Given the description of an element on the screen output the (x, y) to click on. 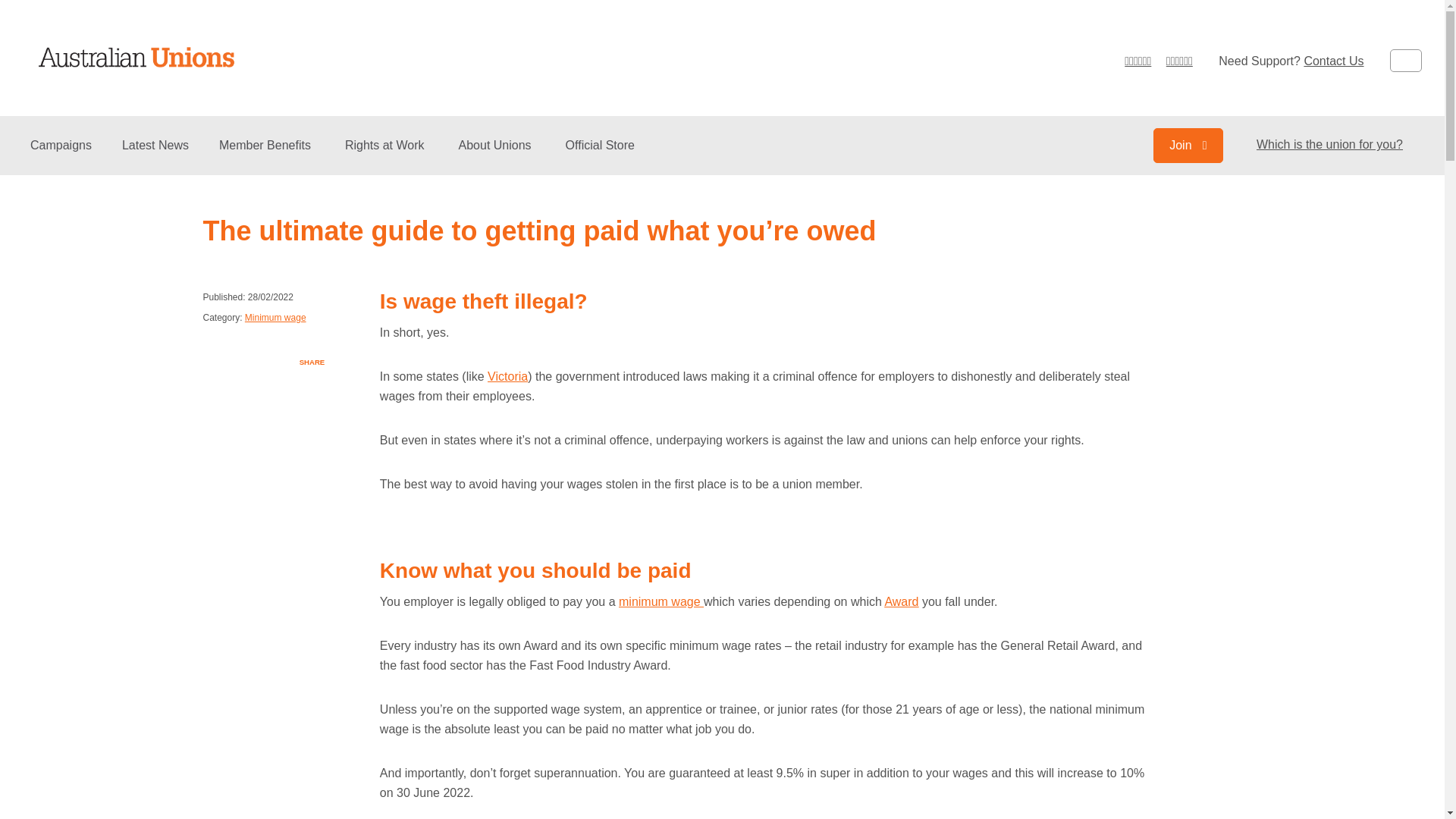
Official Store Element type: text (600, 156)
Join Element type: text (1187, 145)
Rights at Work Element type: text (386, 156)
Award Element type: text (901, 601)
Contact Us Element type: text (1333, 60)
Which is the union for you? Element type: text (1329, 144)
Victoria Element type: text (507, 376)
Minimum wage Element type: text (275, 317)
About Unions Element type: text (496, 156)
minimum wage Element type: text (660, 601)
SHARE Element type: text (310, 364)
Member Benefits Element type: text (266, 156)
Latest News Element type: text (155, 156)
Campaigns Element type: text (60, 156)
